Given the description of an element on the screen output the (x, y) to click on. 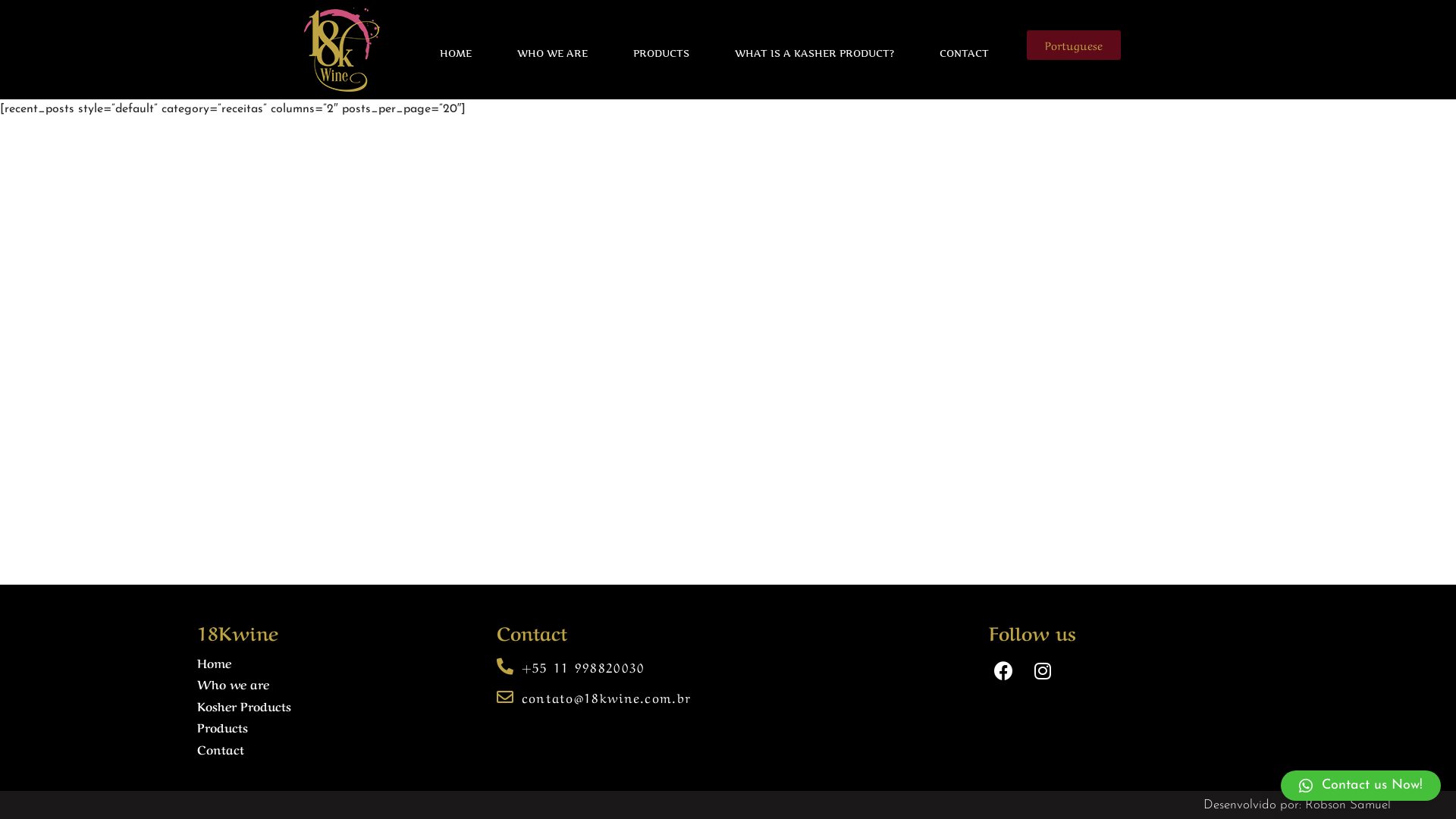
CONTACT Element type: text (963, 52)
Products Element type: text (222, 726)
Who we are Element type: text (233, 683)
WHO WE ARE Element type: text (552, 52)
Desenvolvido por: Robson Samuel Element type: text (1296, 804)
Home Element type: text (214, 661)
PRODUCTS Element type: text (661, 52)
Kosher Products Element type: text (244, 705)
Contact Element type: text (220, 748)
Contact us Now! Element type: text (1360, 785)
WHAT IS A KASHER PRODUCT? Element type: text (814, 52)
Portuguese Element type: text (1073, 44)
HOME Element type: text (455, 52)
